Given the description of an element on the screen output the (x, y) to click on. 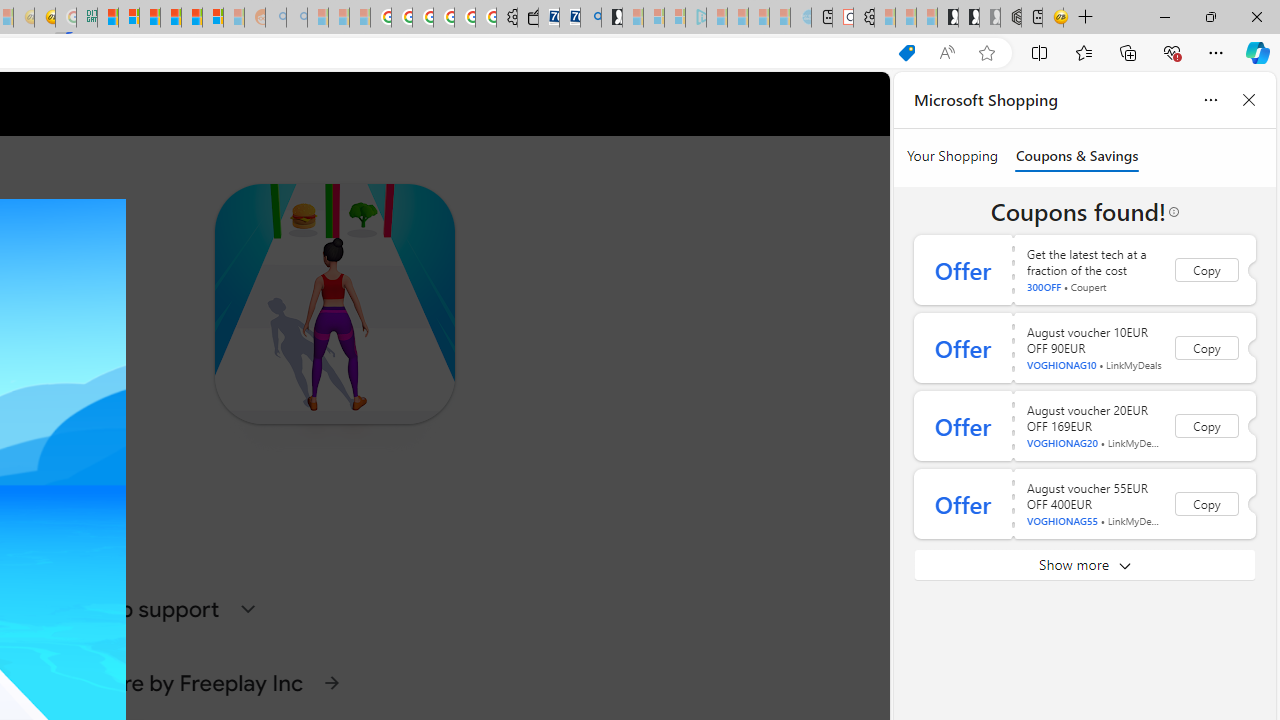
See more information on More by Freeplay Inc (332, 682)
Kinda Frugal - MSN (191, 17)
